Given the description of an element on the screen output the (x, y) to click on. 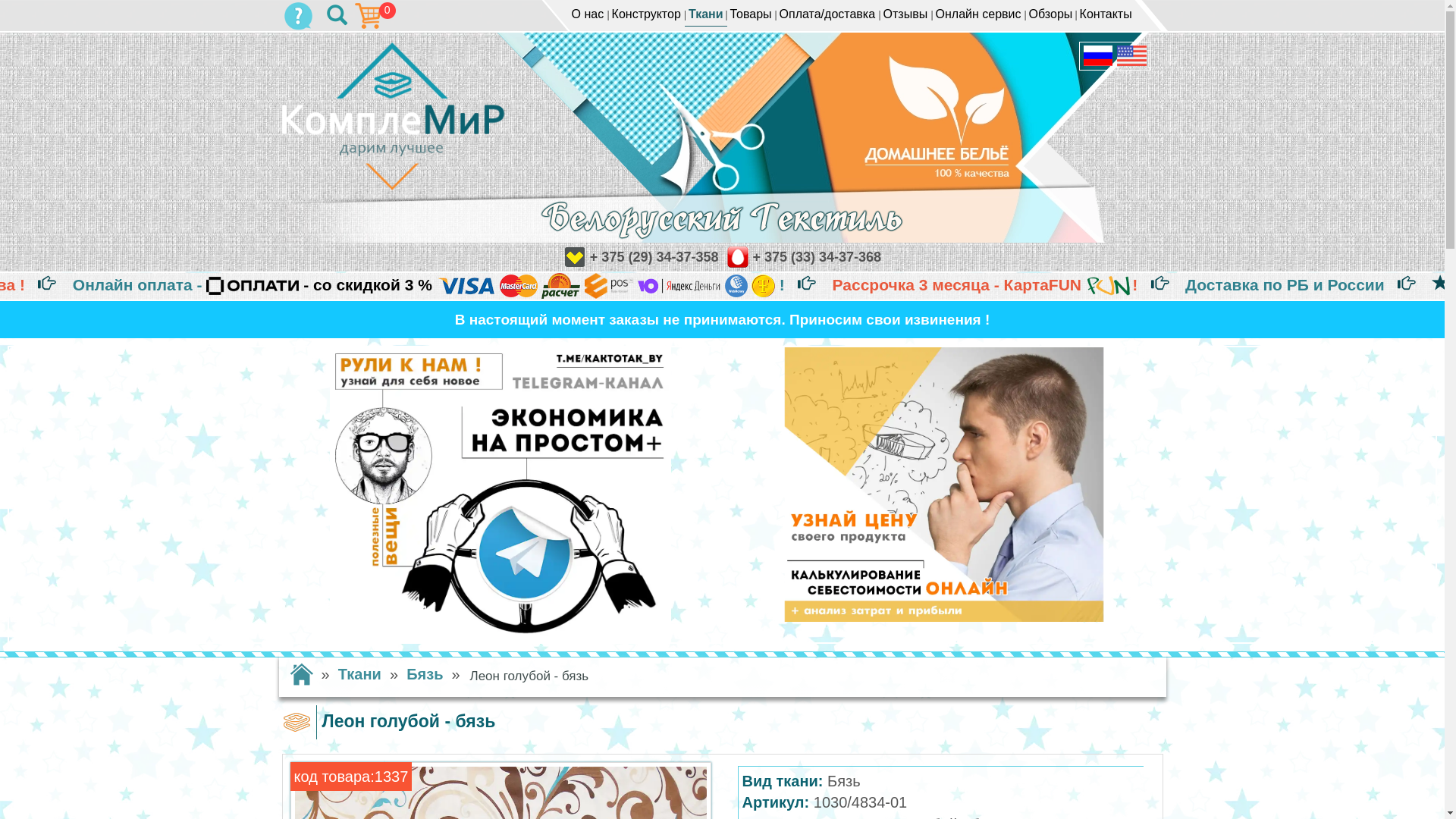
0 Element type: text (298, 16)
